Given the description of an element on the screen output the (x, y) to click on. 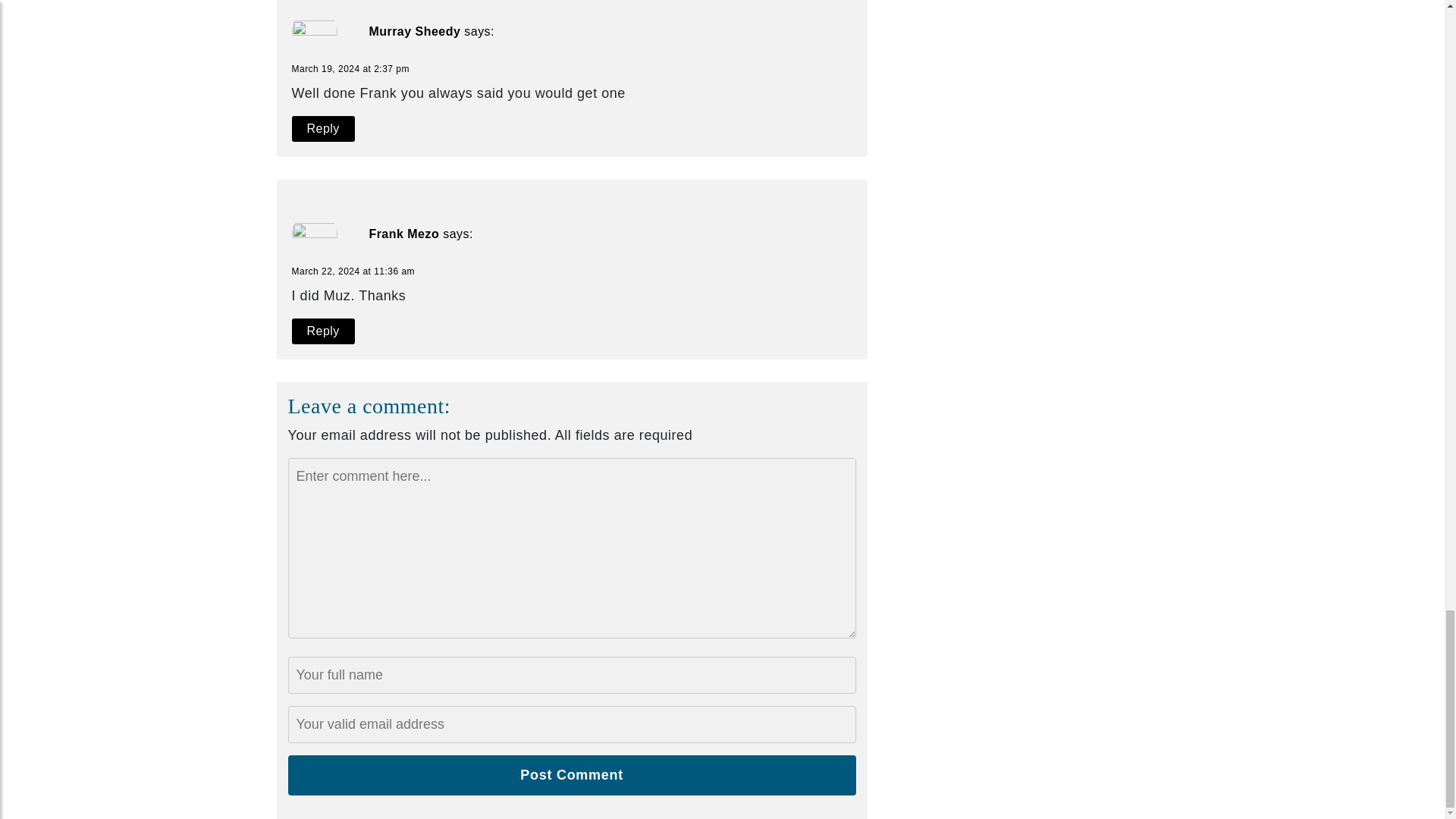
Post Comment (572, 775)
